Given the description of an element on the screen output the (x, y) to click on. 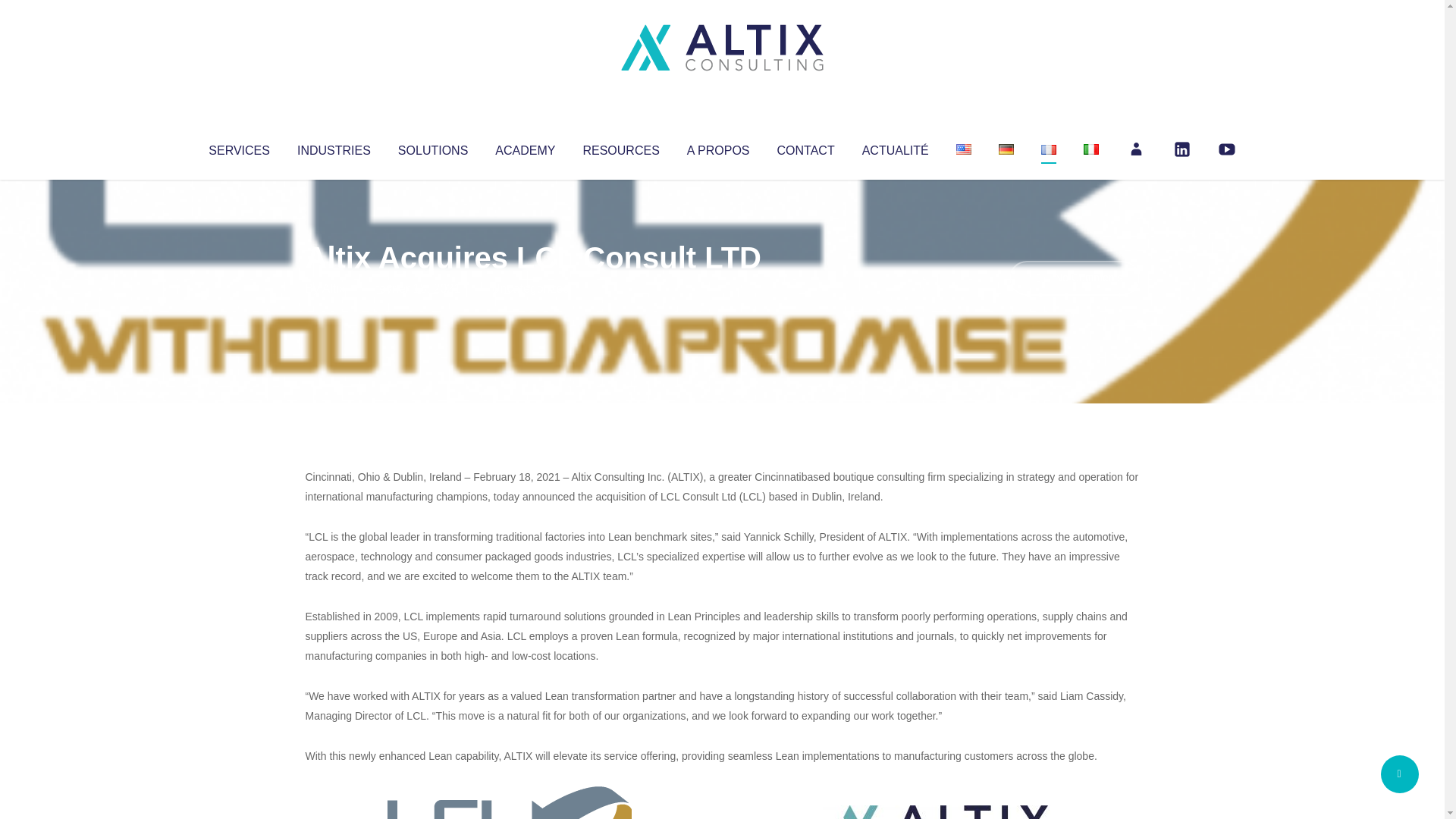
No Comments (1073, 278)
Articles par Altix (333, 287)
ACADEMY (524, 146)
Altix (333, 287)
RESOURCES (620, 146)
INDUSTRIES (334, 146)
Uncategorized (530, 287)
SERVICES (238, 146)
SOLUTIONS (432, 146)
A PROPOS (718, 146)
